Given the description of an element on the screen output the (x, y) to click on. 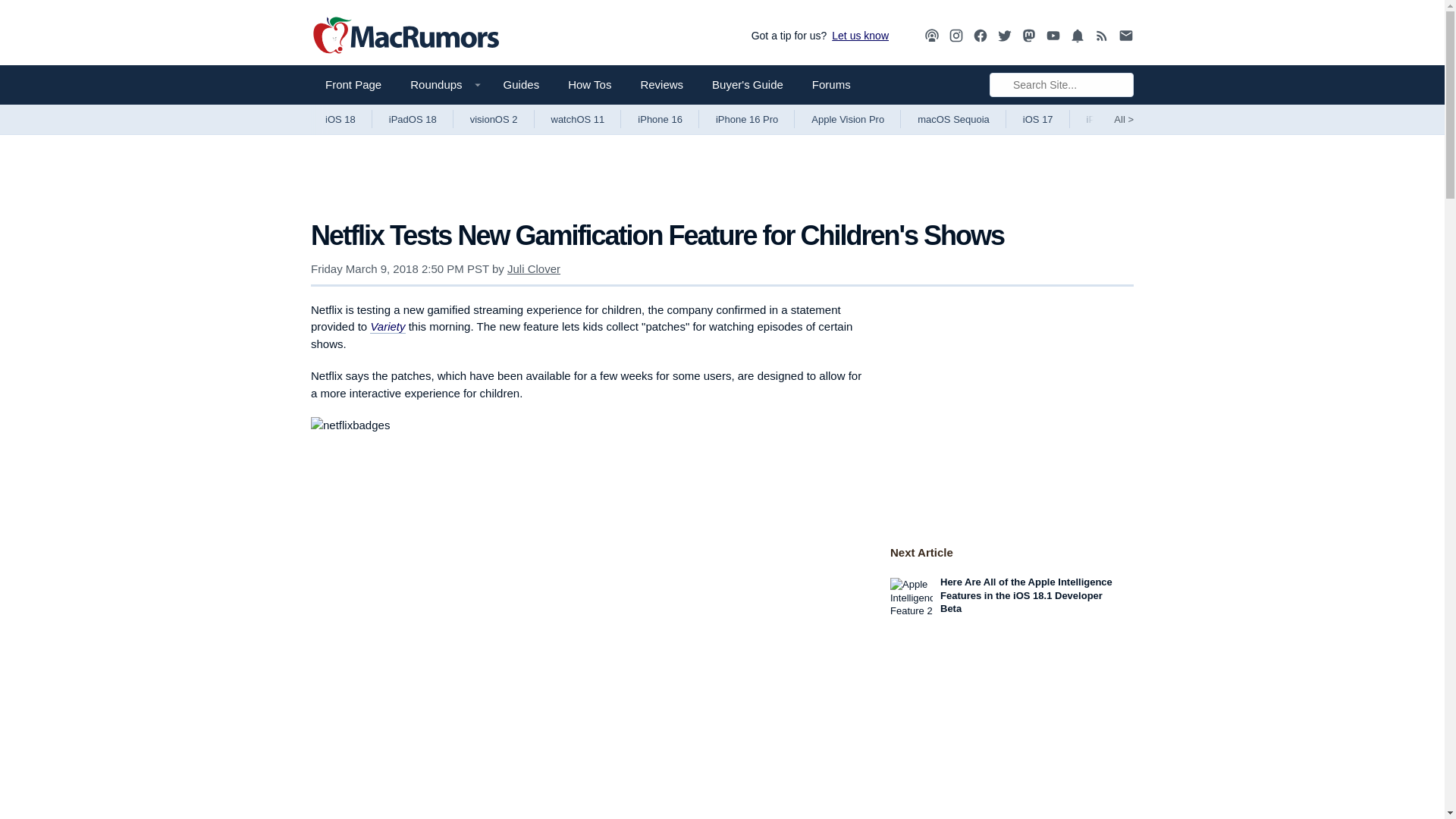
MacRumors on Twitter (1004, 35)
Instagram (956, 35)
MacRumors YouTube Channel (1053, 35)
MacRumors FaceBook Page (980, 35)
Apple, Mac, iPhone, iPad News and Rumors (405, 36)
RSS (1101, 35)
Newsletter (1126, 35)
Instagram (956, 35)
Facebook (980, 35)
Notifications (1077, 35)
Mastodon (1029, 35)
Mastodon (1029, 35)
Newsletter (1126, 35)
Roundups (441, 84)
Podcast (931, 35)
